Given the description of an element on the screen output the (x, y) to click on. 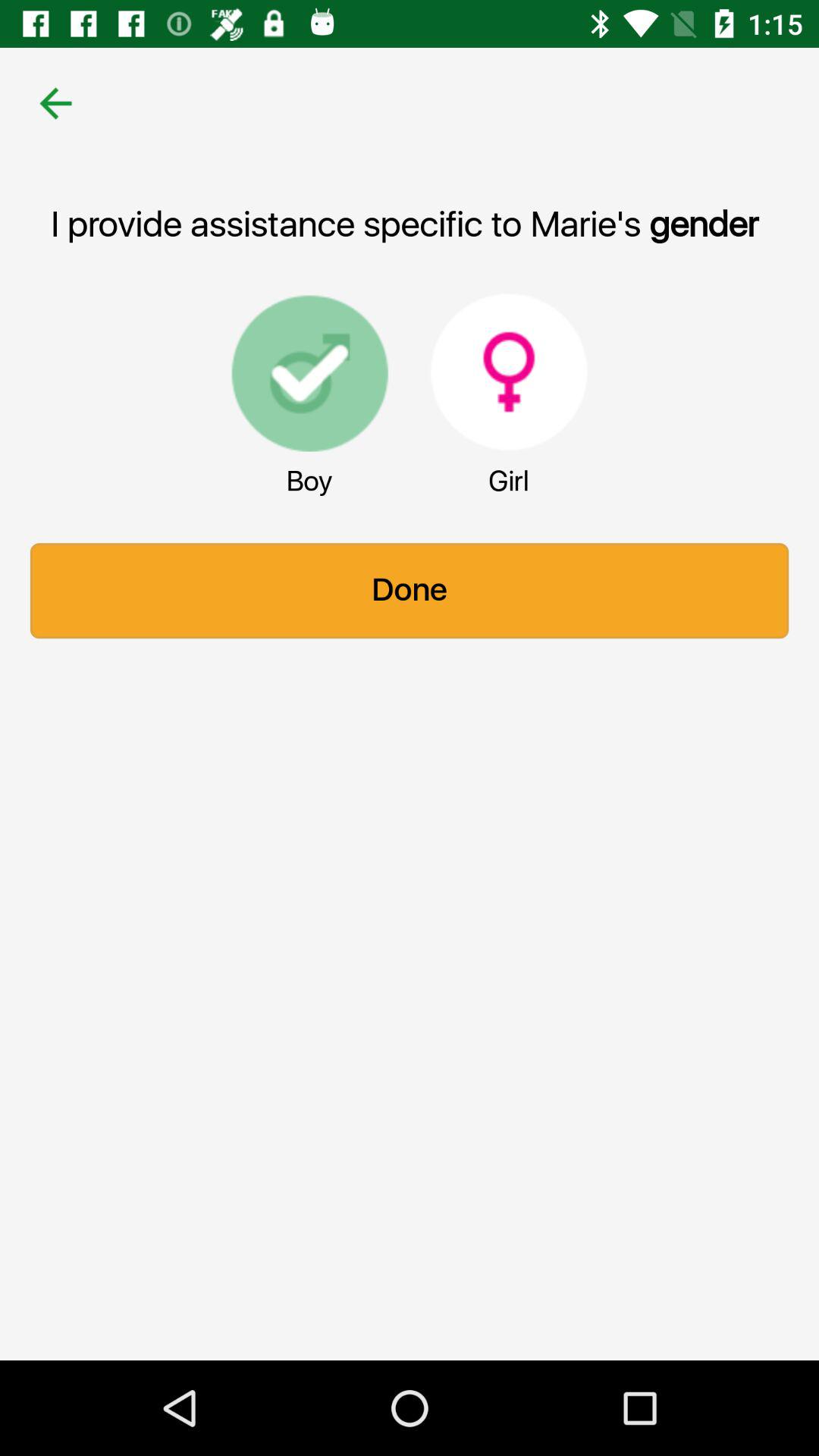
choose the item below i provide assistance icon (508, 371)
